Given the description of an element on the screen output the (x, y) to click on. 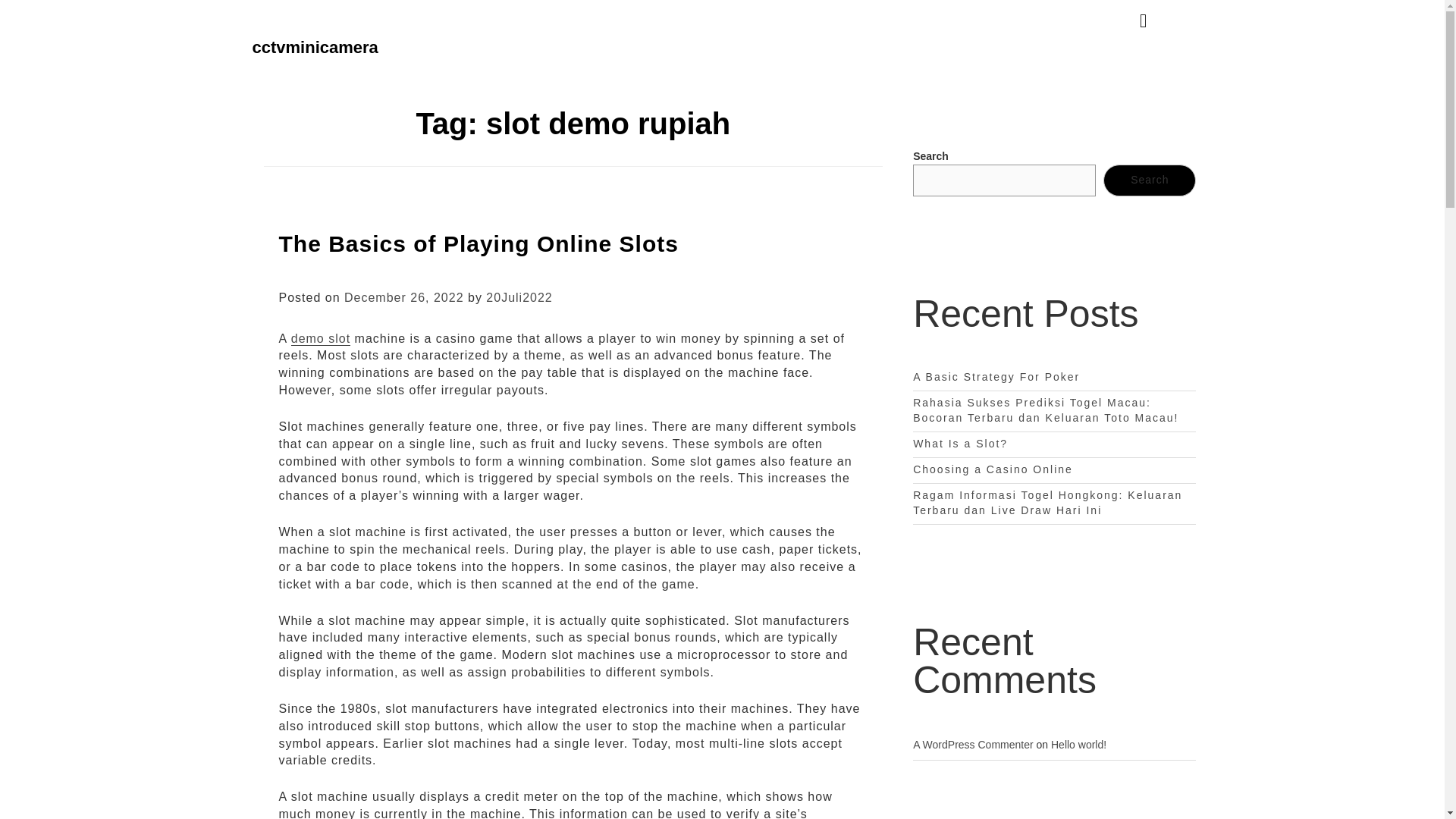
cctvminicamera (314, 46)
demo slot (320, 338)
December 26, 2022 (403, 297)
20Juli2022 (518, 297)
The Basics of Playing Online Slots (478, 243)
